Given the description of an element on the screen output the (x, y) to click on. 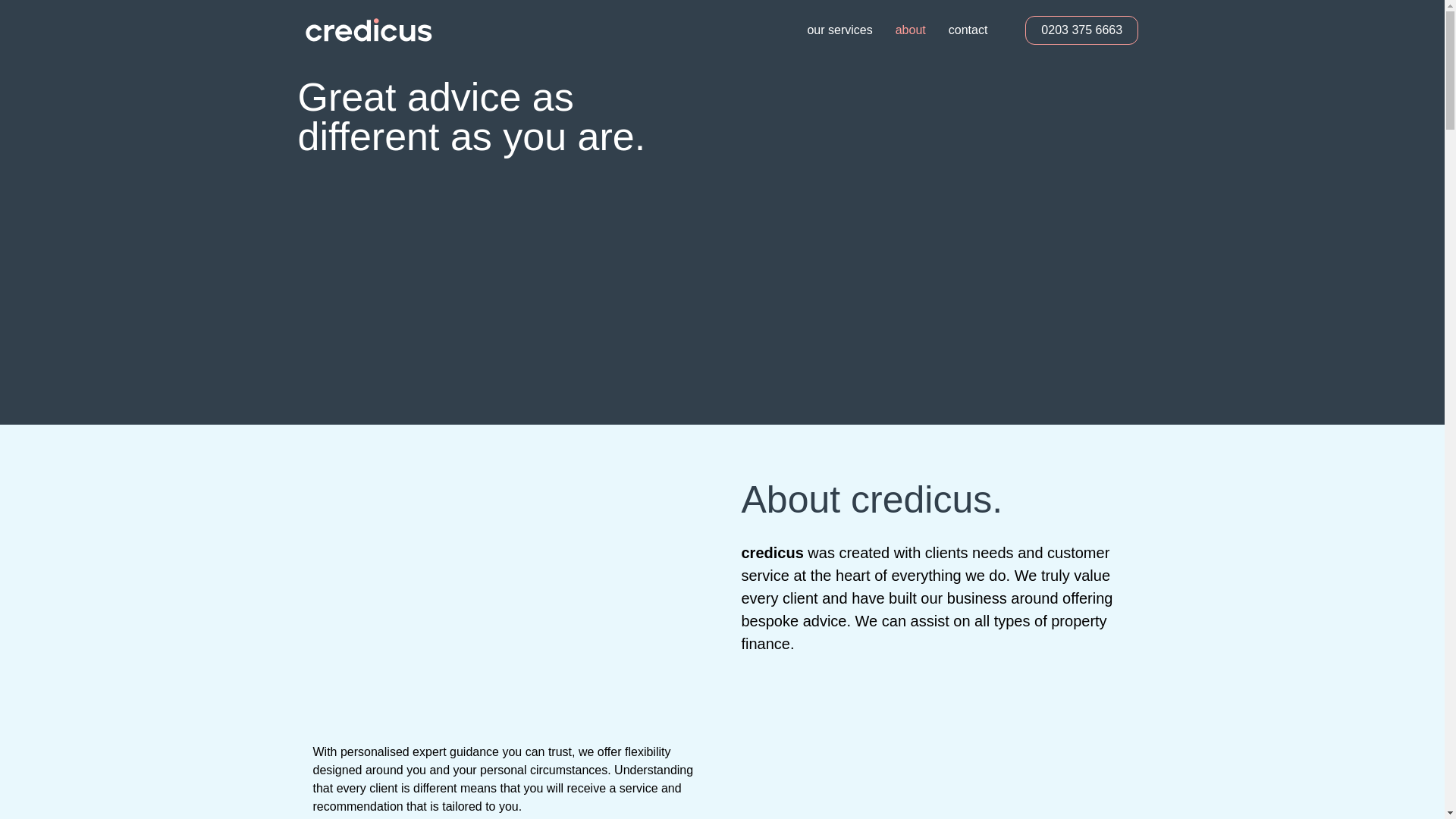
about (910, 29)
our services (839, 29)
0203 375 6663 (1081, 30)
contact (967, 29)
